Given the description of an element on the screen output the (x, y) to click on. 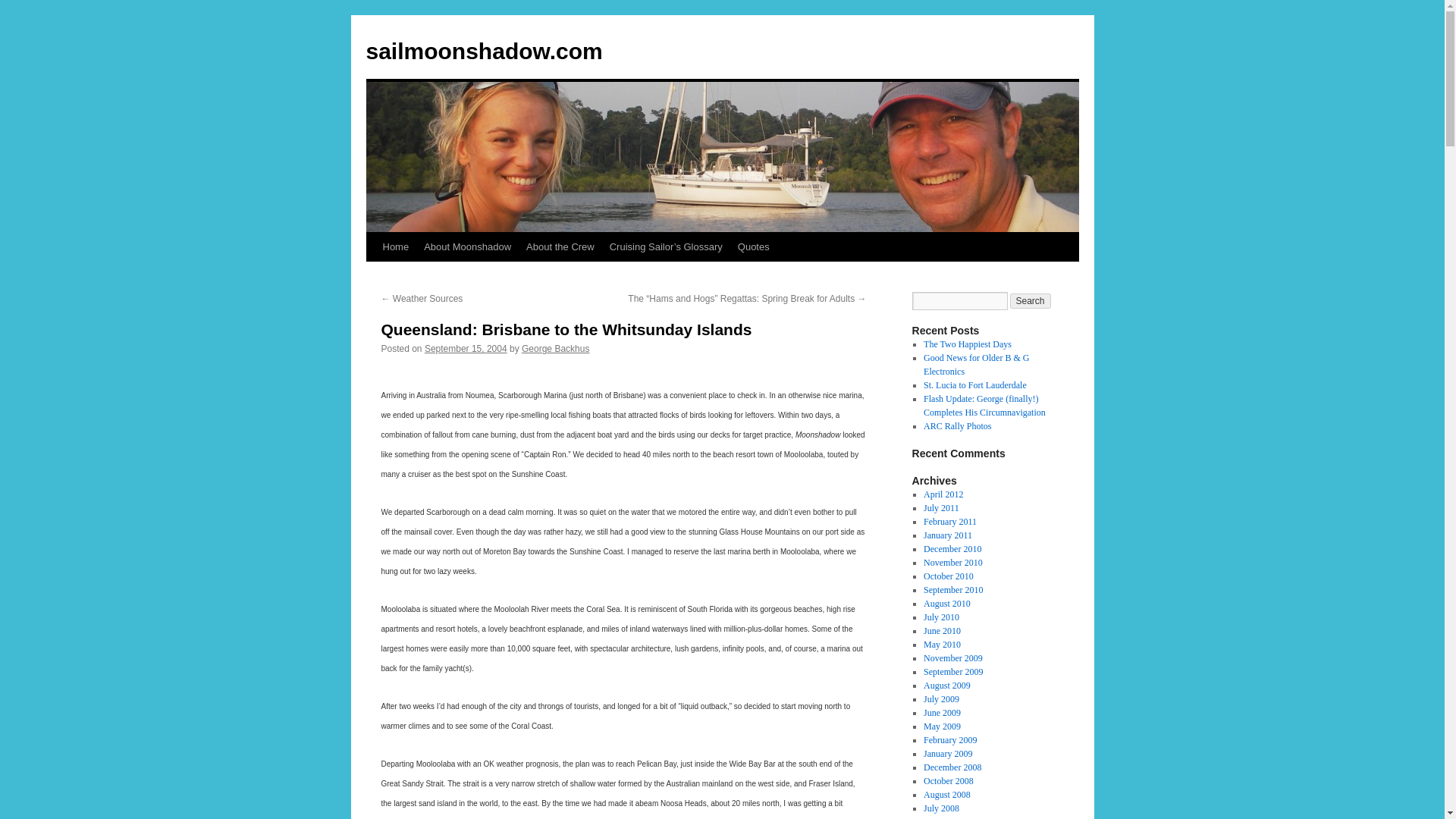
sailmoonshadow.com (483, 50)
St. Lucia to Fort Lauderdale (974, 385)
Search (1030, 300)
May 2010 (941, 644)
The Two Happiest Days (967, 344)
September 2009 (952, 671)
January 2011 (947, 534)
June 2009 (941, 712)
February 2011 (949, 521)
ARC Rally Photos (957, 425)
September 2010 (952, 589)
November 2009 (952, 657)
About the Crew (560, 246)
September 15, 2004 (465, 348)
August 2009 (947, 685)
